Given the description of an element on the screen output the (x, y) to click on. 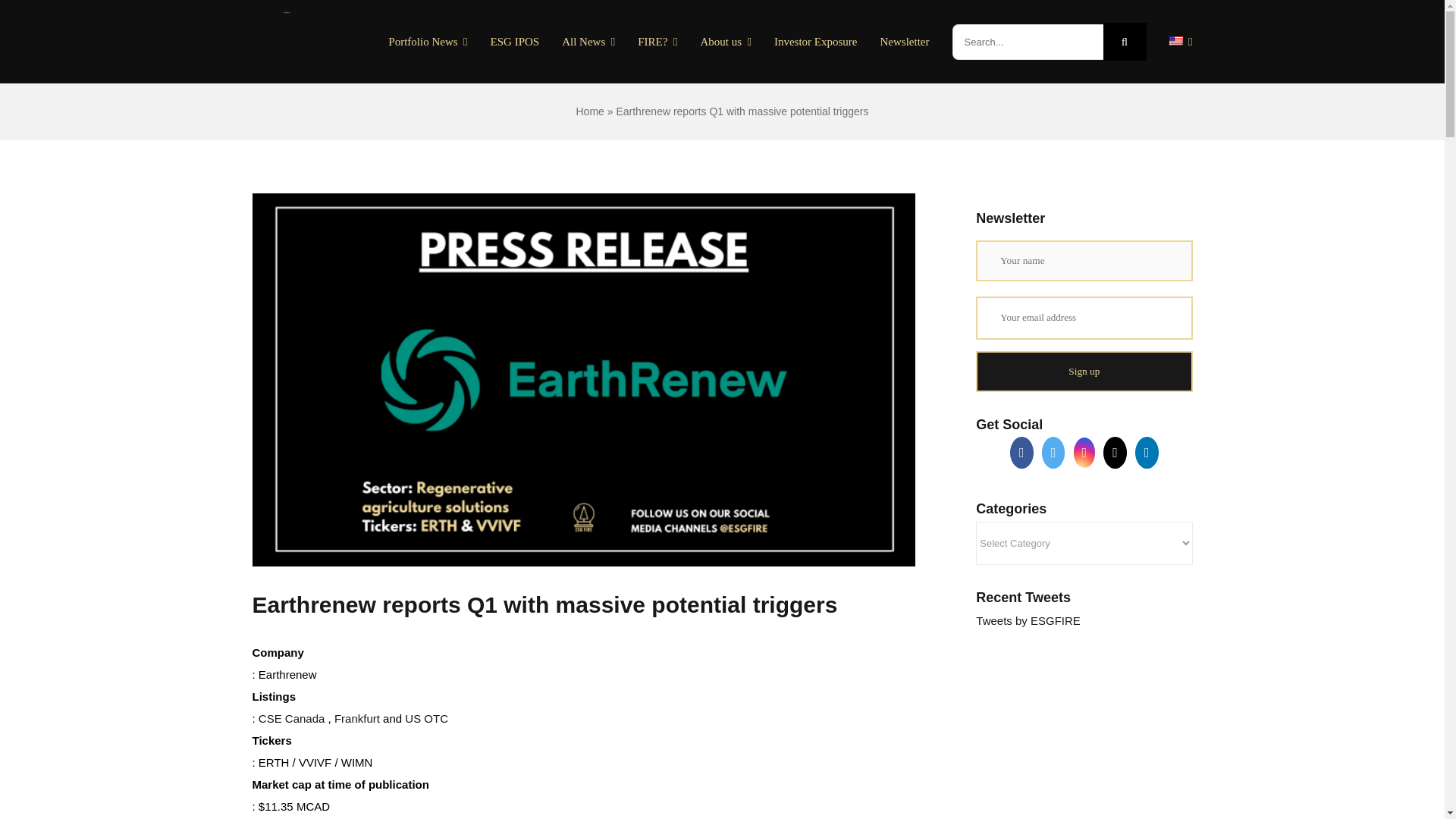
Frankfurt  (358, 717)
Investor Exposure (815, 41)
English (1175, 40)
Sign up (1083, 371)
Portfolio News (427, 41)
Home (590, 111)
 US OTC (424, 717)
CSE Canada (291, 717)
